Given the description of an element on the screen output the (x, y) to click on. 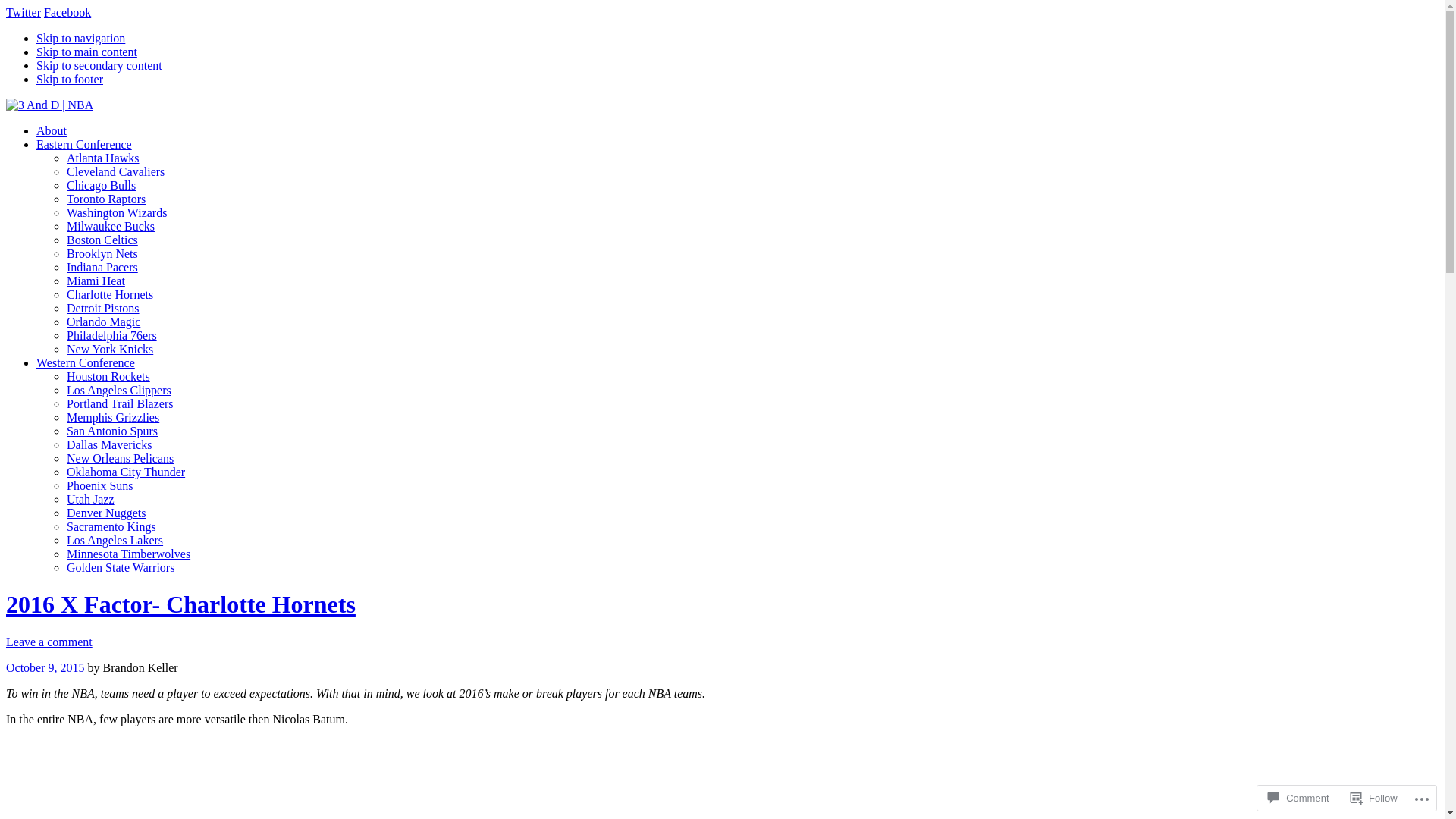
Western Conference Element type: text (85, 362)
Houston Rockets Element type: text (108, 376)
Washington Wizards Element type: text (116, 212)
Los Angeles Lakers Element type: text (114, 539)
Facebook Element type: text (67, 12)
Skip to navigation Element type: text (80, 37)
Utah Jazz Element type: text (90, 498)
Oklahoma City Thunder Element type: text (125, 471)
Memphis Grizzlies Element type: text (112, 417)
Charlotte Hornets Element type: text (109, 294)
Los Angeles Clippers Element type: text (118, 389)
Philadelphia 76ers Element type: text (111, 335)
Atlanta Hawks Element type: text (102, 157)
Portland Trail Blazers Element type: text (119, 403)
Phoenix Suns Element type: text (99, 485)
Boston Celtics Element type: text (102, 239)
Chicago Bulls Element type: text (100, 184)
Dallas Mavericks Element type: text (108, 444)
Miami Heat Element type: text (95, 280)
Indiana Pacers Element type: text (102, 266)
Follow Element type: text (1373, 797)
Detroit Pistons Element type: text (102, 307)
Cleveland Cavaliers Element type: text (115, 171)
Skip to secondary content Element type: text (99, 65)
Golden State Warriors Element type: text (120, 567)
Minnesota Timberwolves Element type: text (128, 553)
Skip to footer Element type: text (69, 78)
Comment Element type: text (1297, 797)
Eastern Conference Element type: text (83, 144)
October 9, 2015 Element type: text (45, 667)
Sacramento Kings Element type: text (111, 526)
Skip to main content Element type: text (86, 51)
Milwaukee Bucks Element type: text (110, 225)
Orlando Magic Element type: text (103, 321)
Brooklyn Nets Element type: text (102, 253)
Denver Nuggets Element type: text (105, 512)
Twitter Element type: text (23, 12)
About Element type: text (51, 130)
New York Knicks Element type: text (109, 348)
New Orleans Pelicans Element type: text (119, 457)
San Antonio Spurs Element type: text (111, 430)
2016 X Factor- Charlotte Hornets Element type: text (180, 604)
Toronto Raptors Element type: text (105, 198)
Leave a comment Element type: text (49, 641)
